Given the description of an element on the screen output the (x, y) to click on. 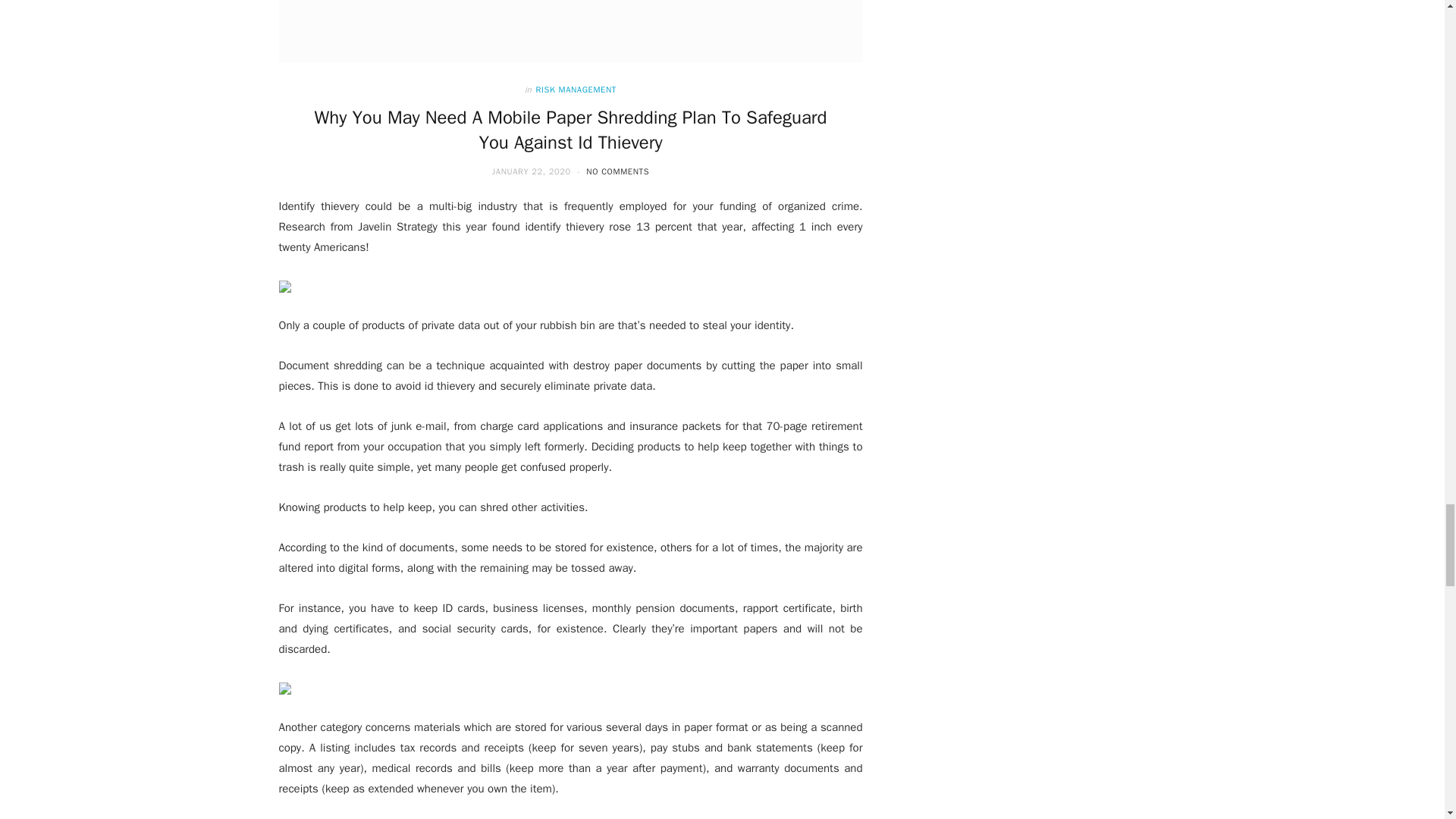
NO COMMENTS (617, 171)
RISK MANAGEMENT (575, 89)
JANUARY 22, 2020 (532, 171)
